Given the description of an element on the screen output the (x, y) to click on. 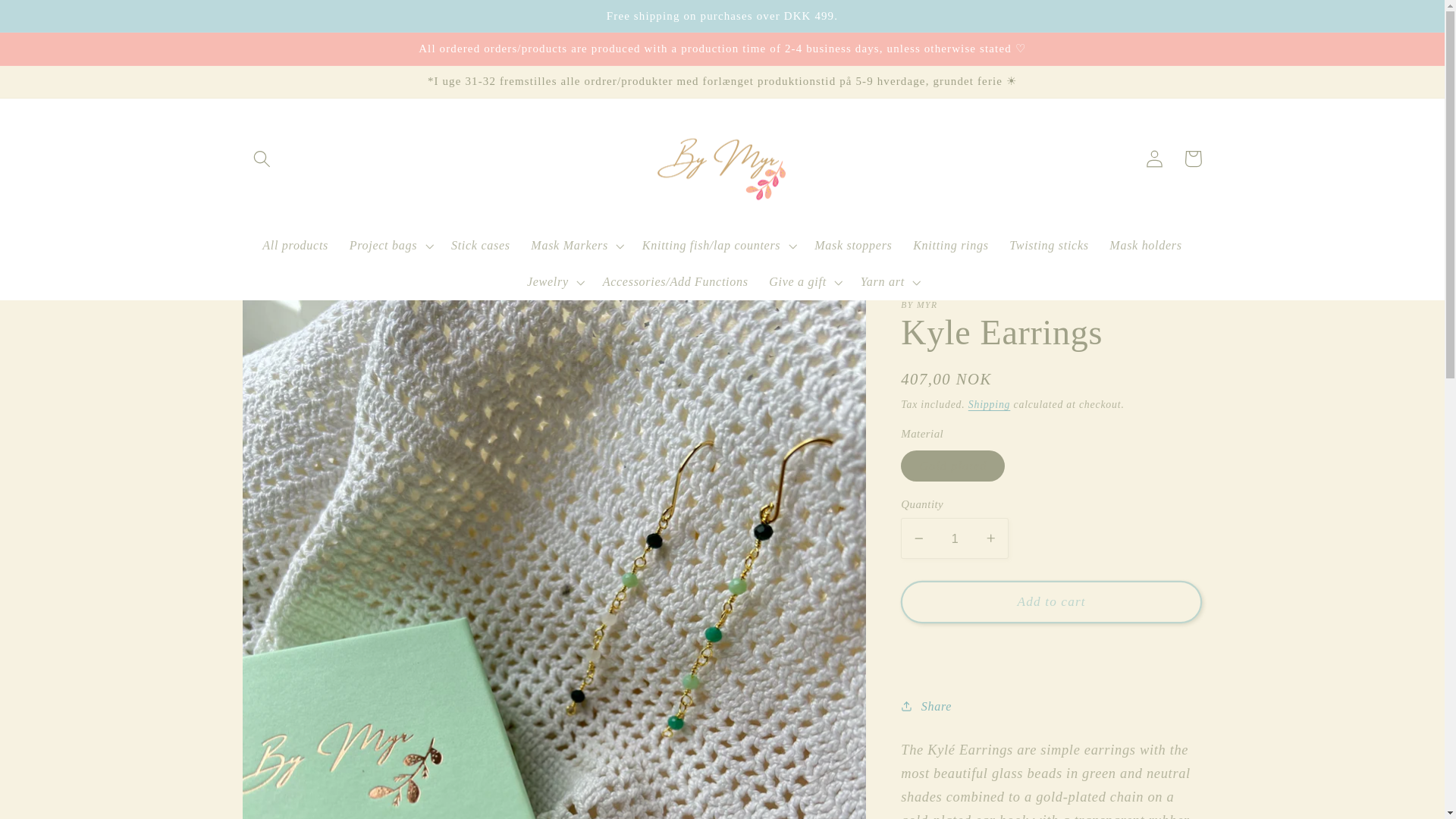
1 (955, 537)
Skip to content (53, 20)
